Given the description of an element on the screen output the (x, y) to click on. 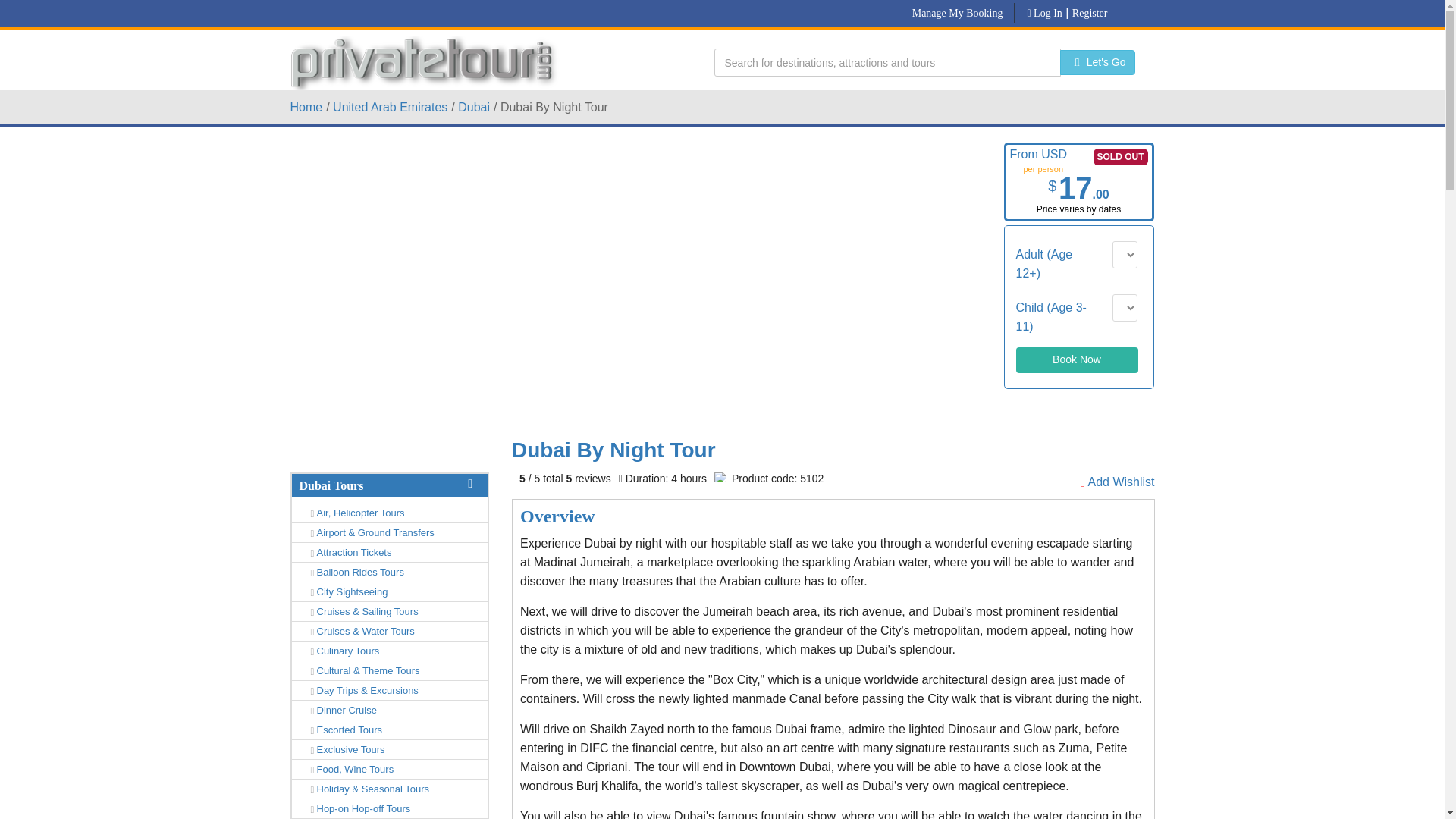
Register (1089, 12)
Log In (1043, 12)
Manage My Booking (957, 12)
